Given the description of an element on the screen output the (x, y) to click on. 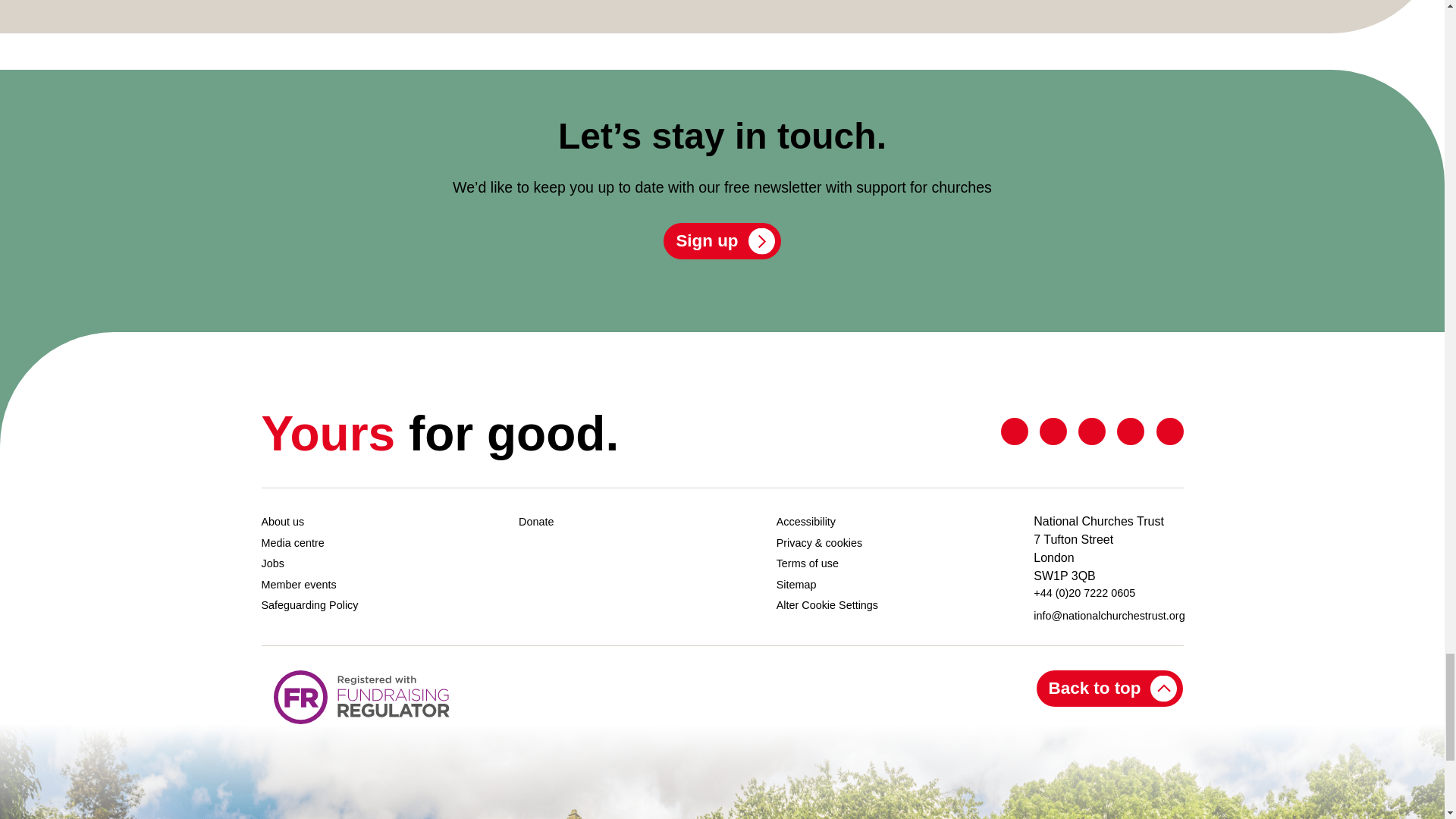
Linkedin (1091, 431)
Instagram (1168, 431)
Twitter (1014, 431)
Youtube (1130, 431)
Facebook (1052, 431)
